Given the description of an element on the screen output the (x, y) to click on. 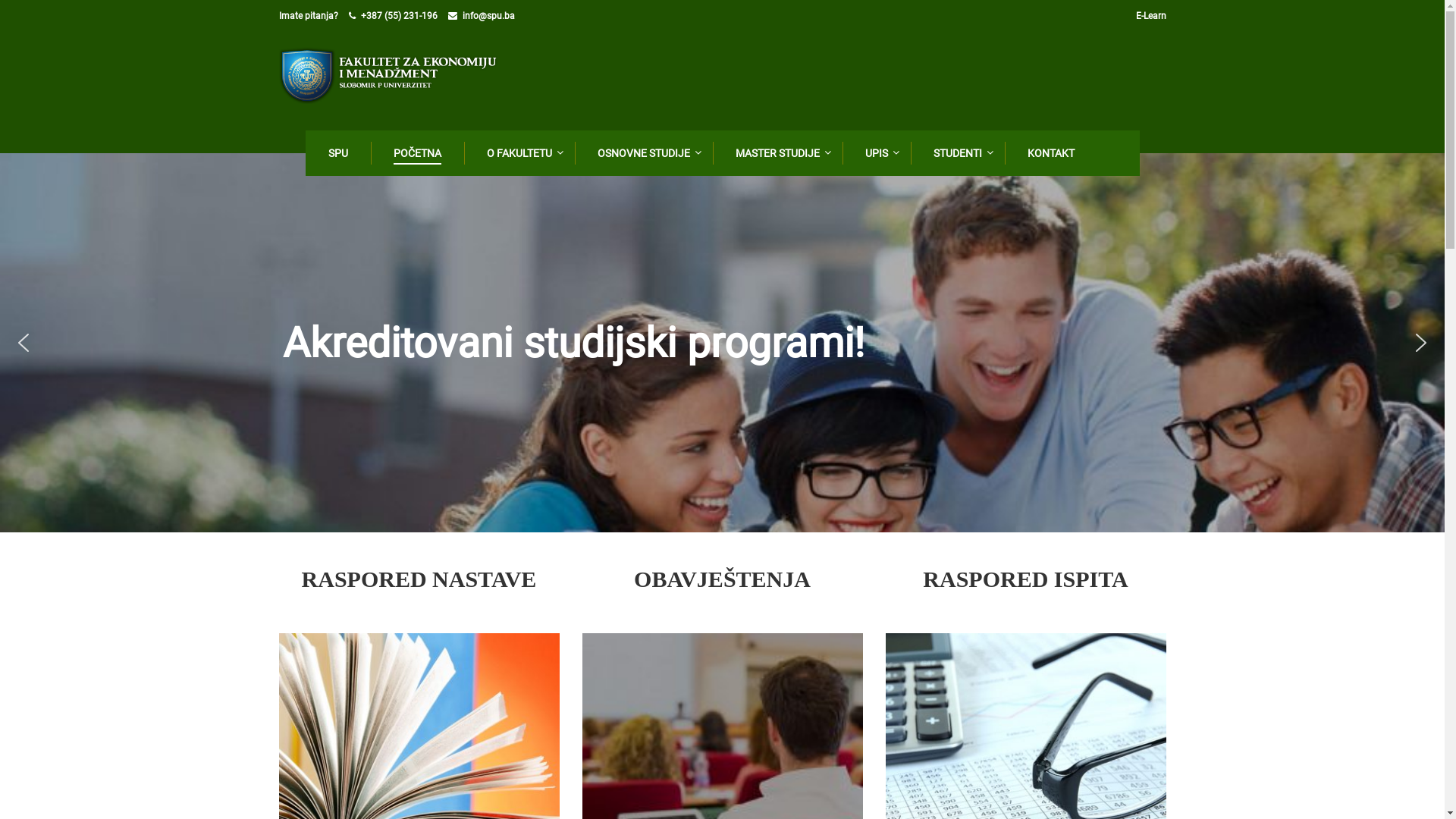
O FAKULTETU Element type: text (517, 152)
+387 (55) 231-196 Element type: text (398, 15)
info@spu.ba Element type: text (488, 15)
UPIS Element type: text (873, 152)
OSNOVNE STUDIJE Element type: text (641, 152)
MASTER STUDIJE Element type: text (775, 152)
KONTAKT Element type: text (1048, 152)
E-Learn Element type: text (1150, 15)
STUDENTI Element type: text (955, 152)
SPU Element type: text (335, 152)
